Given the description of an element on the screen output the (x, y) to click on. 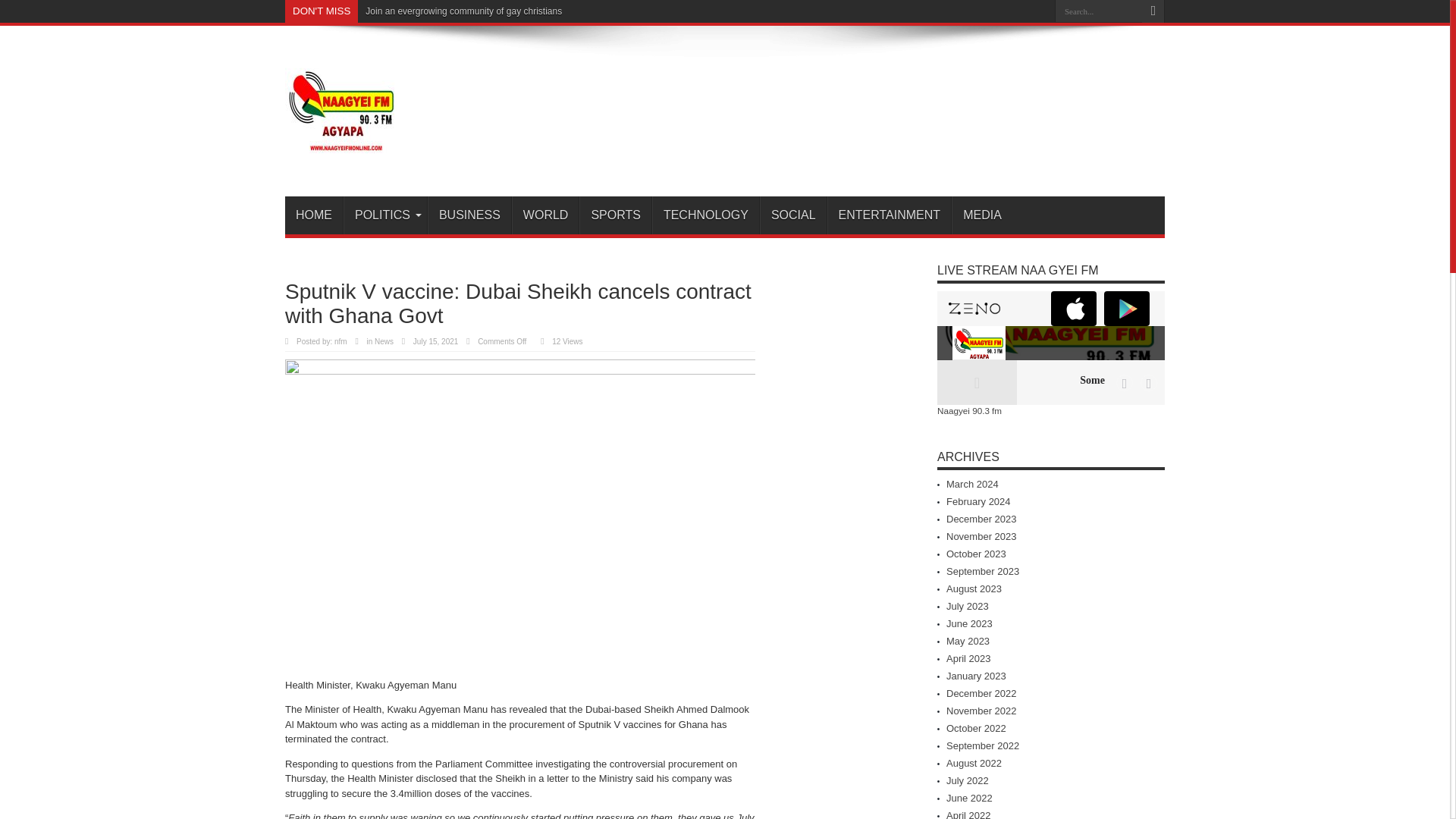
Join an evergrowing community of gay christians (463, 11)
MEDIA (981, 215)
ENTERTAINMENT (889, 215)
BUSINESS (469, 215)
Naagyei 90.3 Fm (341, 158)
nfm (340, 341)
Search... (1097, 11)
TECHNOLOGY (705, 215)
Search (1152, 11)
HOME (313, 215)
SPORTS (614, 215)
POLITICS (384, 215)
SOCIAL (793, 215)
WORLD (545, 215)
Join an evergrowing community of gay christians (463, 11)
